Given the description of an element on the screen output the (x, y) to click on. 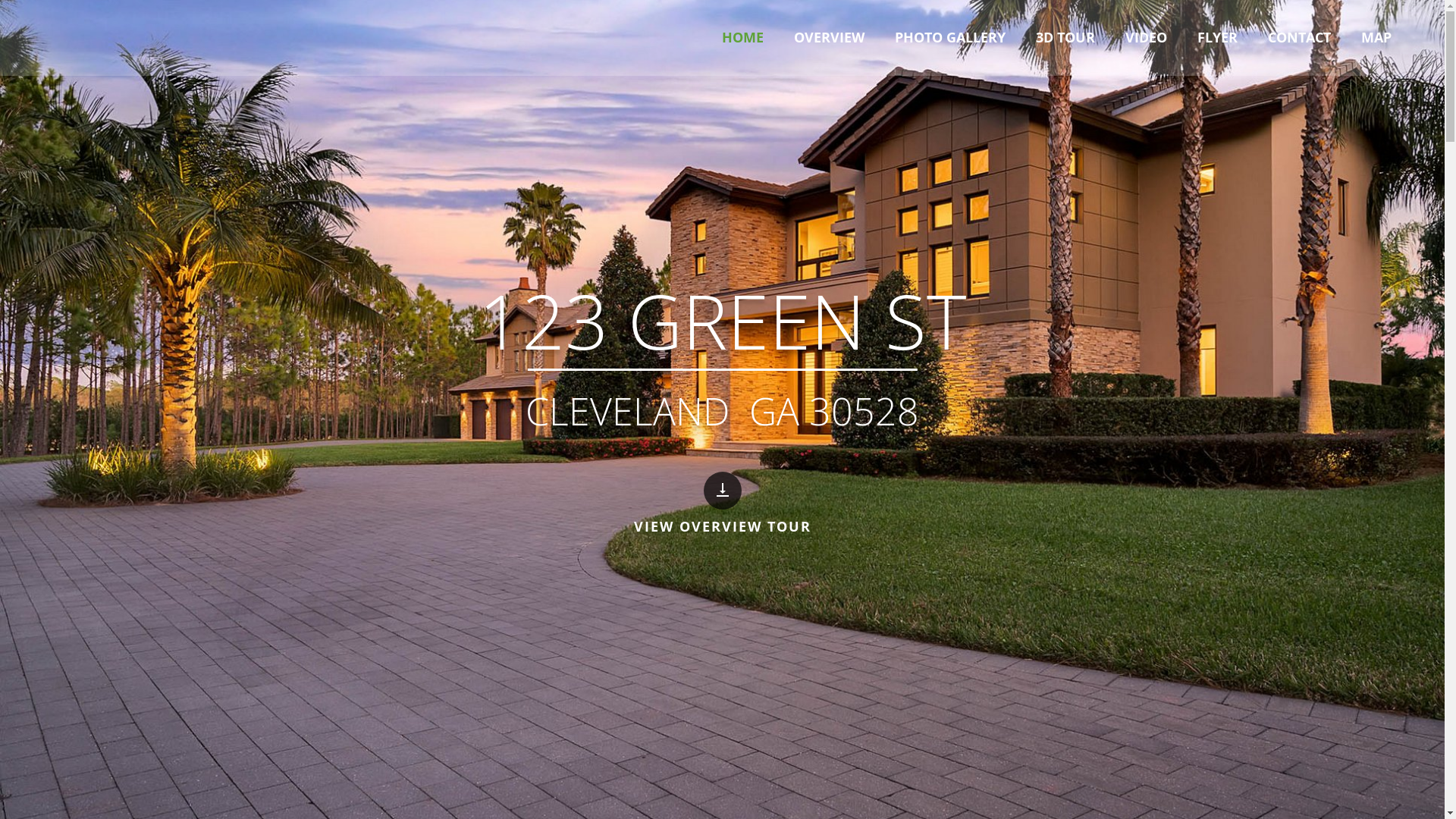
CONTACT Element type: text (1299, 37)
VIDEO Element type: text (1146, 37)
OVERVIEW Element type: text (828, 37)
FLYER Element type: text (1217, 37)
MAP Element type: text (1376, 37)
HOME Element type: text (742, 37)
3D TOUR Element type: text (1065, 37)
vertical_align_bottom
VIEW OVERVIEW TOUR Element type: text (722, 503)
PHOTO GALLERY Element type: text (949, 37)
